Given the description of an element on the screen output the (x, y) to click on. 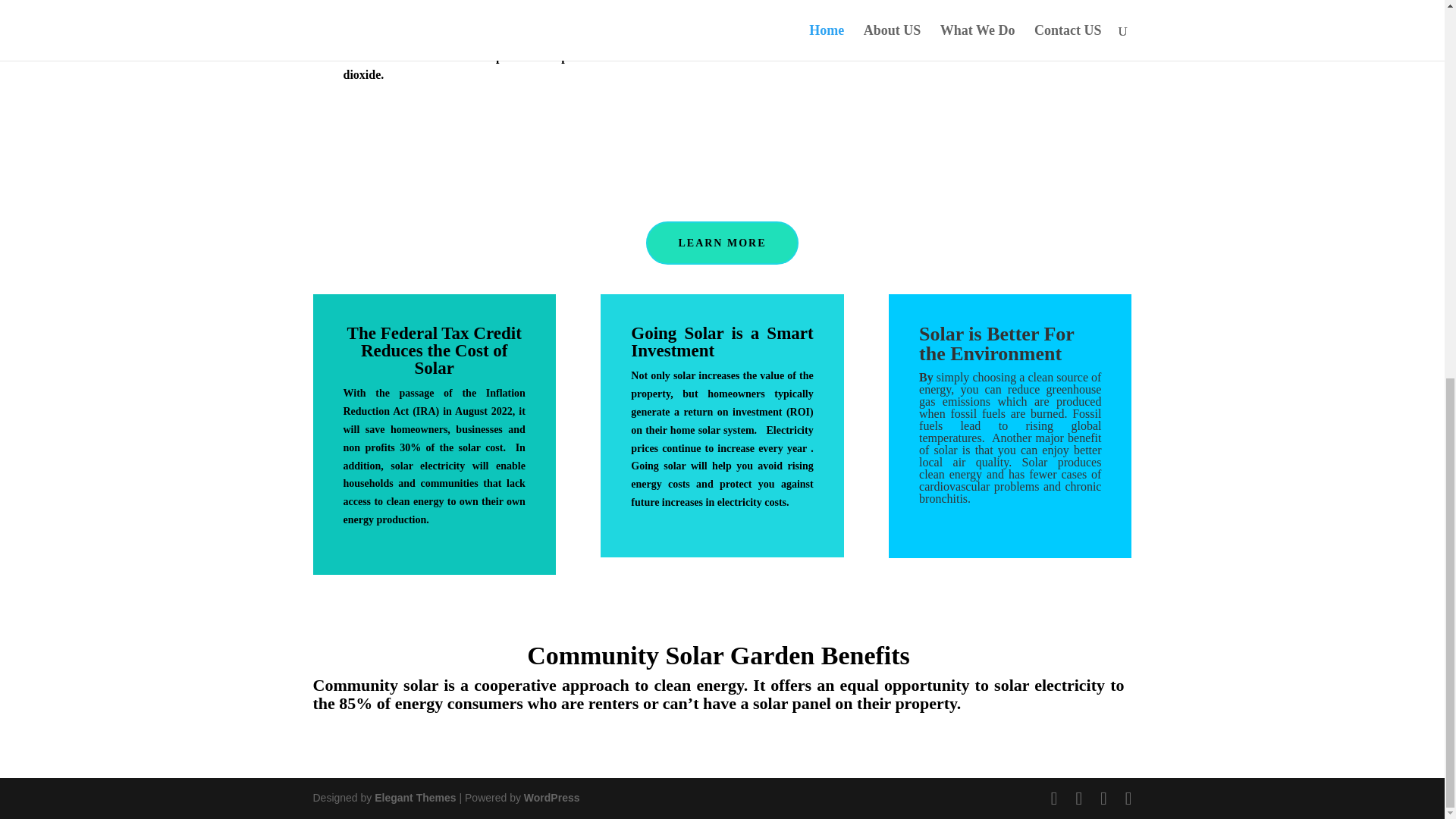
WordPress (551, 797)
Click Here (363, 745)
LEARN MORE (721, 243)
Premium WordPress Themes (414, 797)
Elegant Themes (414, 797)
Screenshot 2023-10-23 at 12.41.21 PM (937, 85)
